Given the description of an element on the screen output the (x, y) to click on. 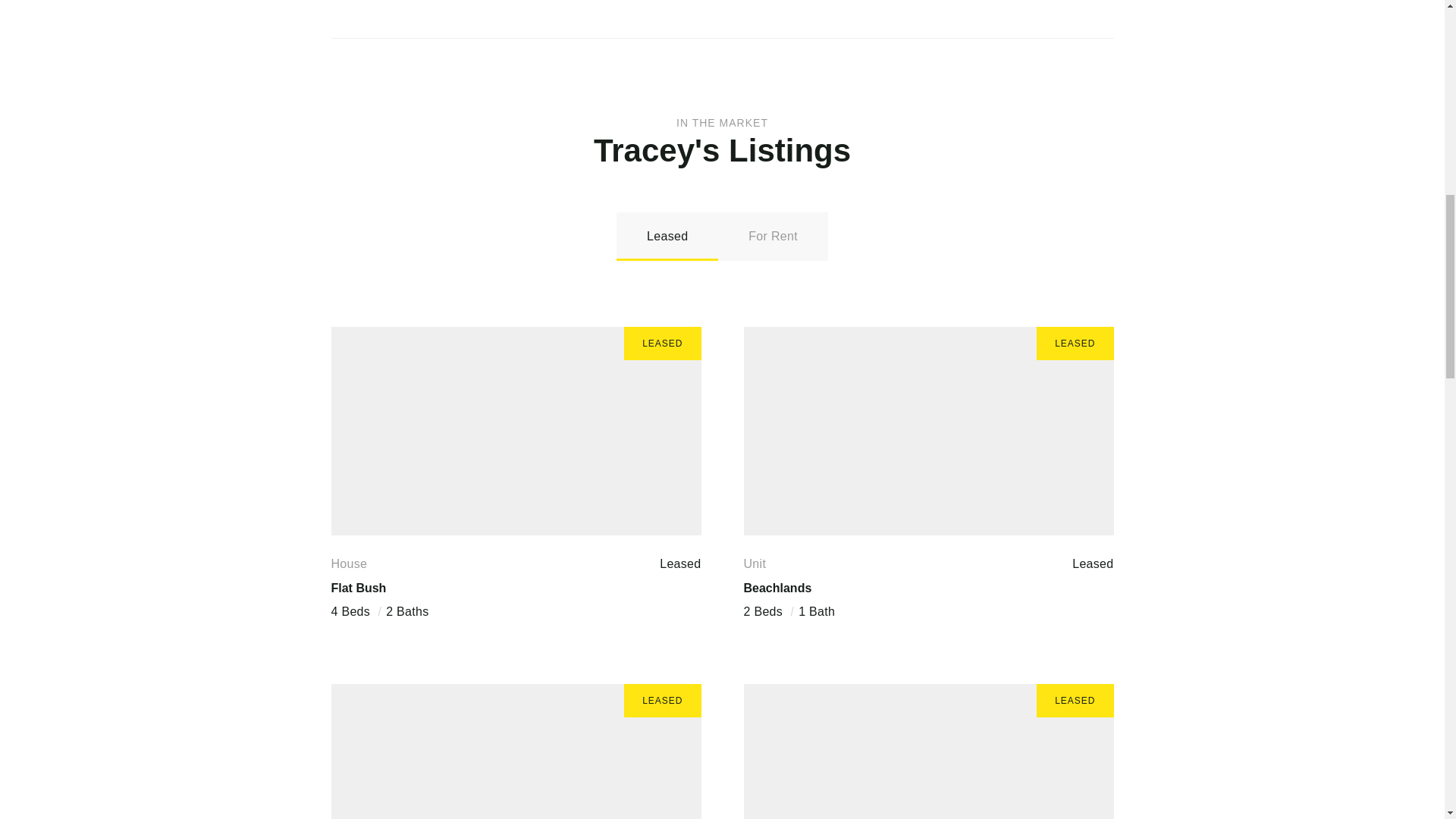
LEASED (927, 751)
Flat Bush (357, 586)
LEASED (515, 751)
LEASED (515, 430)
Beachlands (776, 586)
LEASED (927, 430)
